Given the description of an element on the screen output the (x, y) to click on. 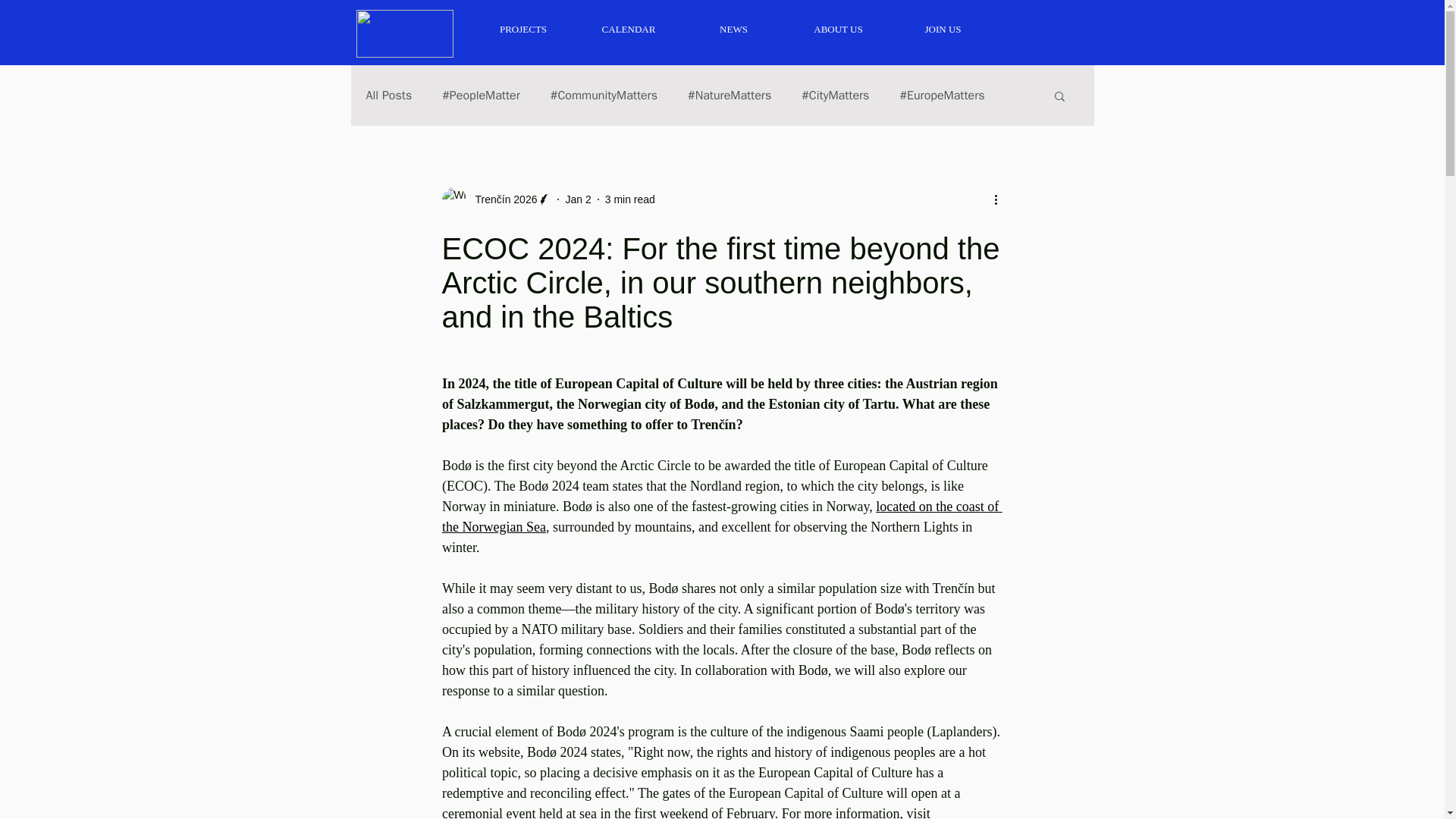
JOIN US (941, 29)
CALENDAR (628, 29)
ABOUT US (837, 29)
NEWS (733, 29)
located on the coast of the Norwegian Sea (721, 516)
3 min read (630, 198)
All Posts (388, 95)
Jan 2 (577, 198)
PROJECTS (522, 29)
